Given the description of an element on the screen output the (x, y) to click on. 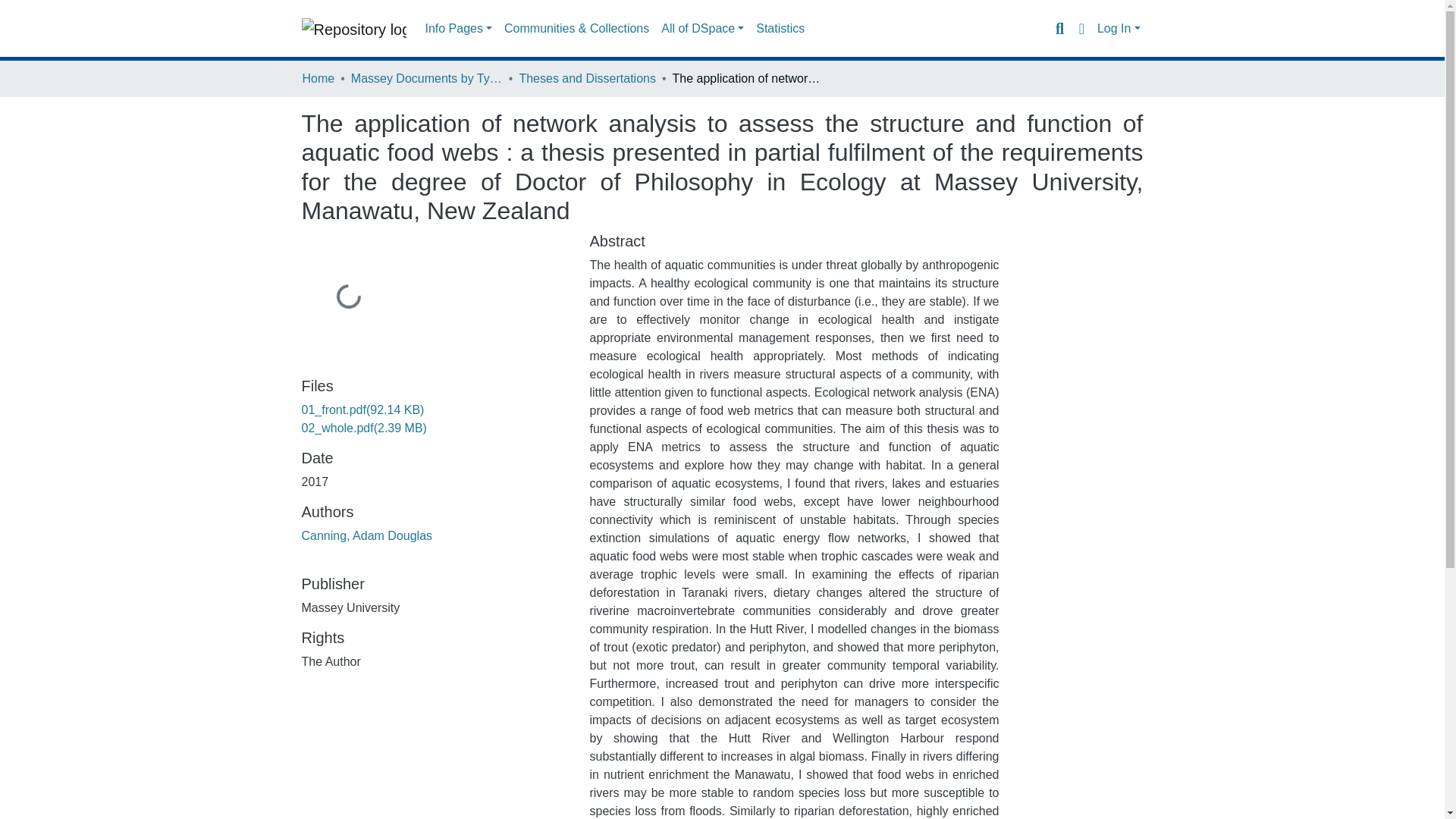
Canning, Adam Douglas (366, 535)
All of DSpace (702, 28)
Statistics (779, 28)
Language switch (1081, 28)
Statistics (779, 28)
Info Pages (458, 28)
Home (317, 78)
Search (1058, 28)
Log In (1118, 28)
Theses and Dissertations (587, 78)
